Given the description of an element on the screen output the (x, y) to click on. 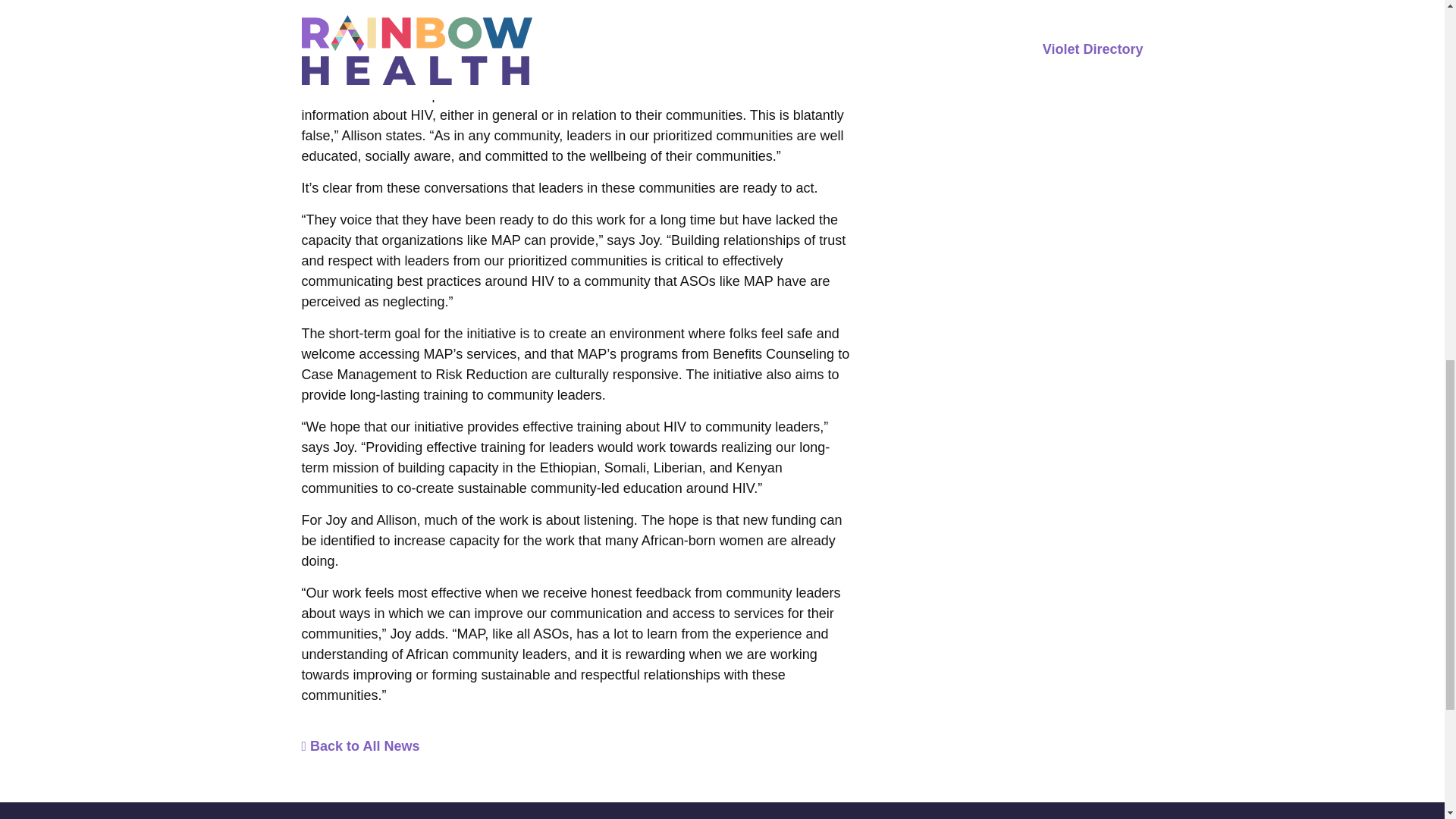
Back to All News (360, 745)
